Given the description of an element on the screen output the (x, y) to click on. 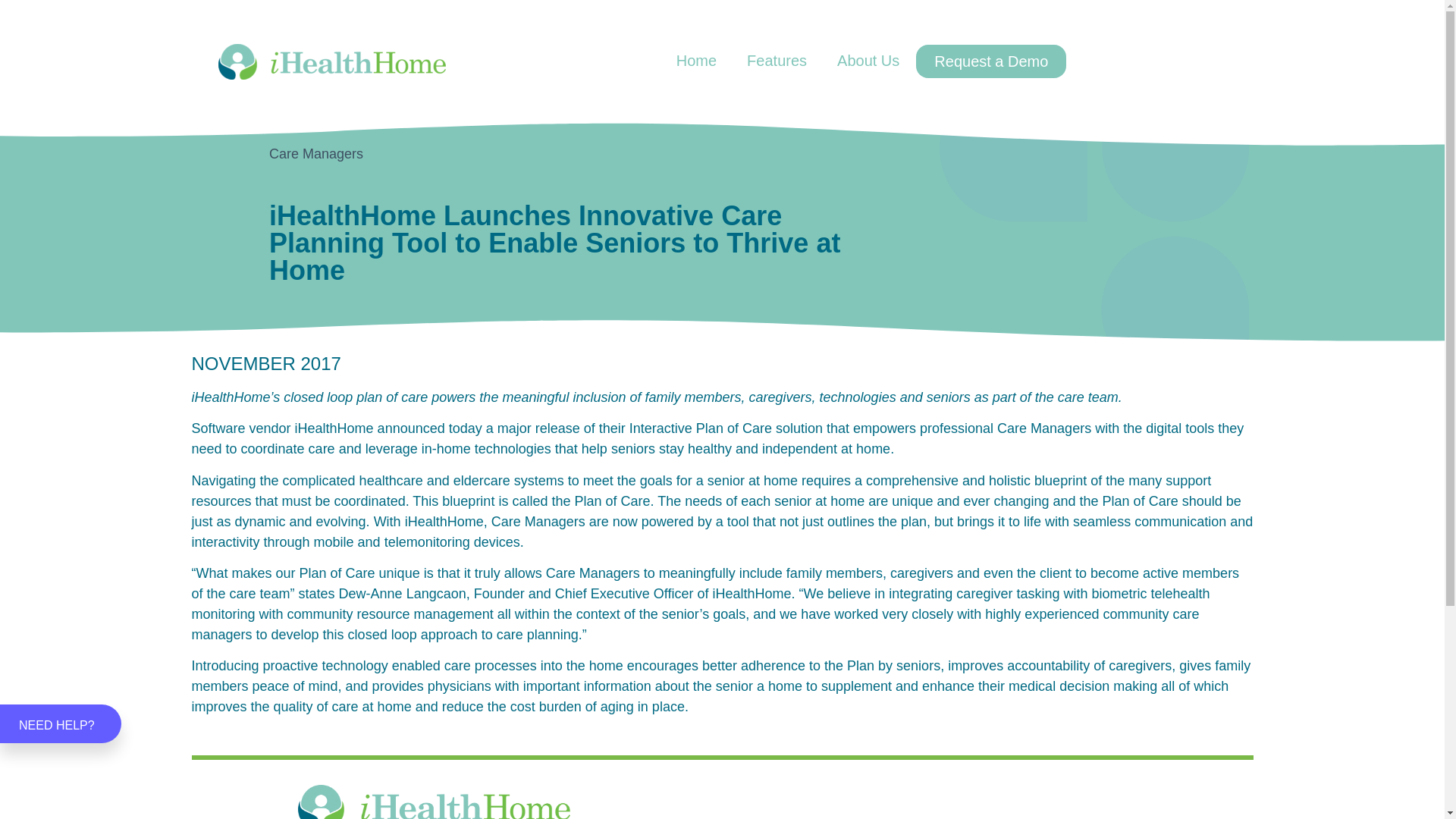
About Us (868, 60)
Features (777, 60)
NEED HELP? (60, 723)
Care Managers (315, 153)
Request a Demo (990, 61)
Home (696, 60)
